Given the description of an element on the screen output the (x, y) to click on. 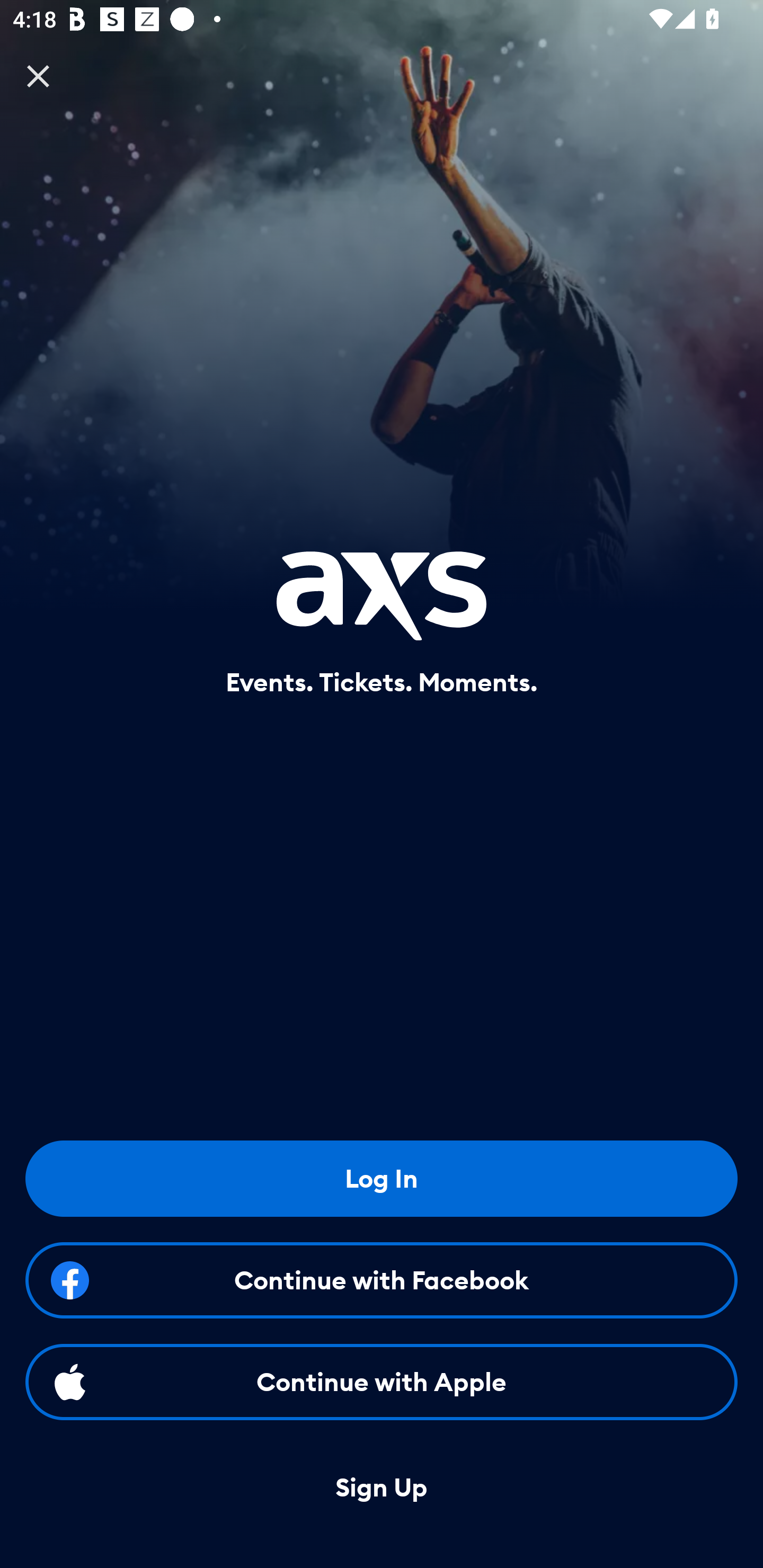
Log In (381, 1177)
Continue with Facebook (381, 1279)
Continue with Apple (381, 1381)
Sign Up (381, 1487)
